Given the description of an element on the screen output the (x, y) to click on. 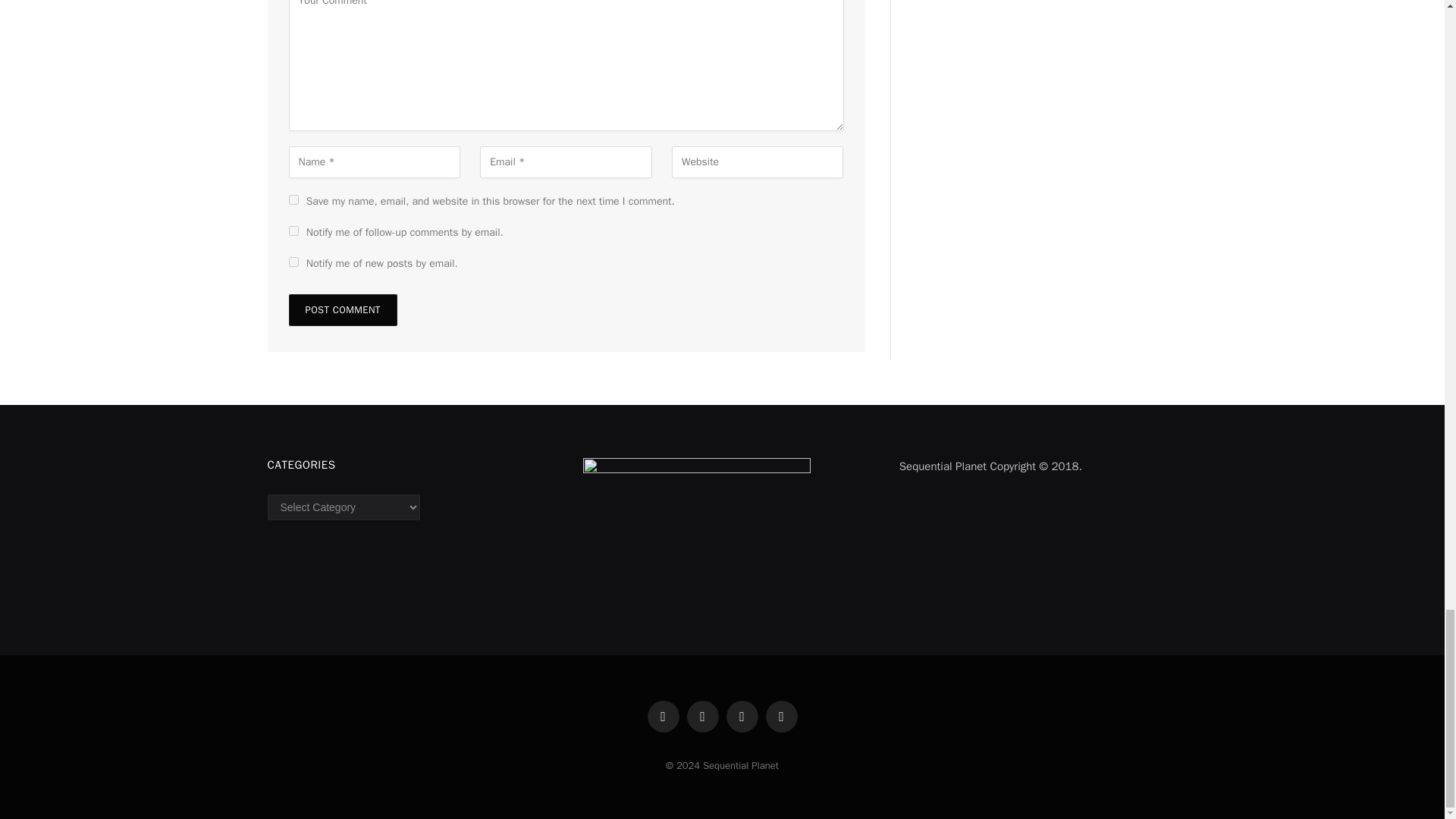
yes (293, 199)
subscribe (293, 261)
Post Comment (342, 309)
subscribe (293, 230)
